Given the description of an element on the screen output the (x, y) to click on. 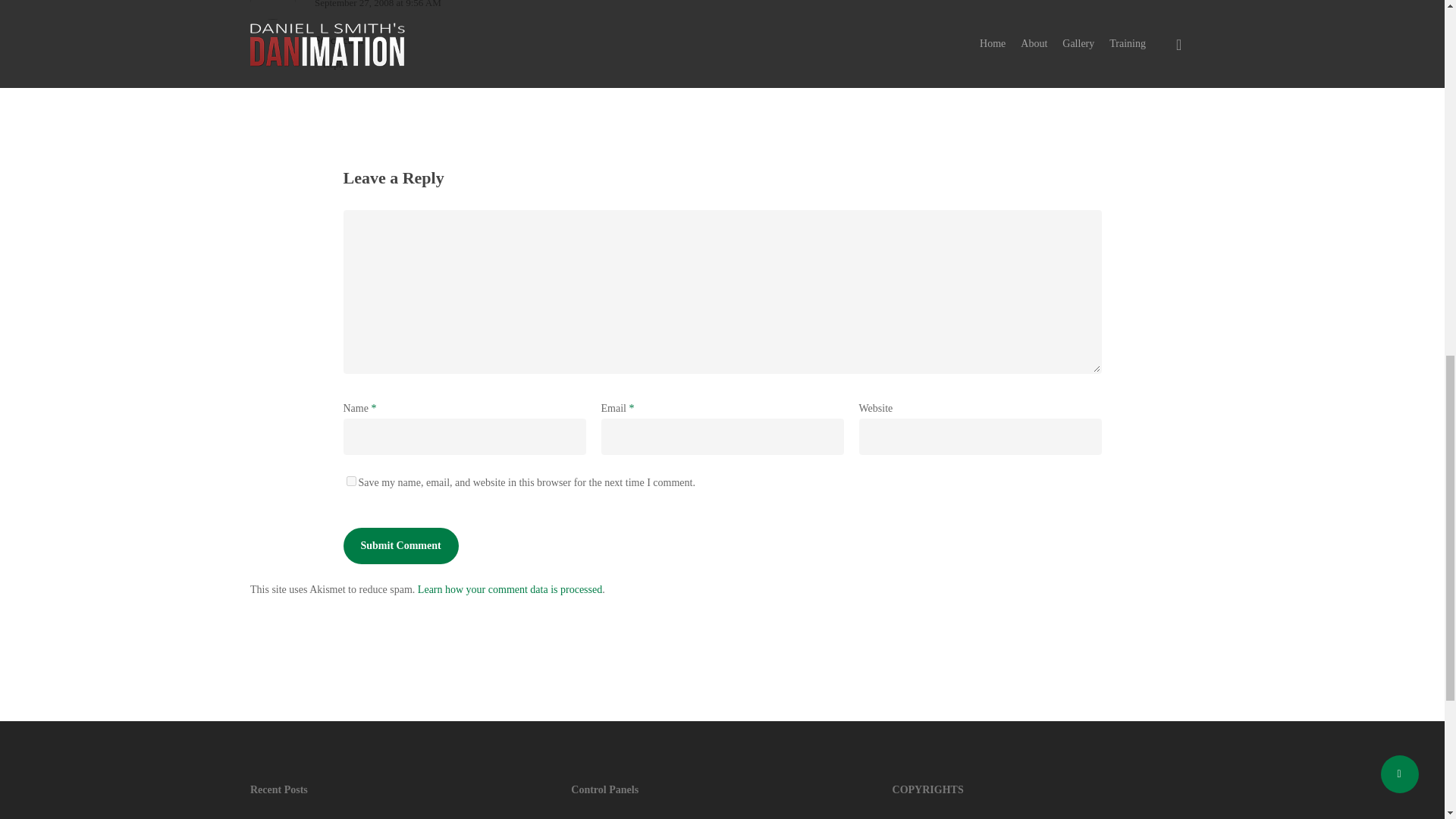
yes (350, 480)
Learn how your comment data is processed (509, 589)
Submit Comment (400, 545)
Reply (330, 63)
Submit Comment (400, 545)
September 27, 2008 at 9:56 AM (377, 4)
